Given the description of an element on the screen output the (x, y) to click on. 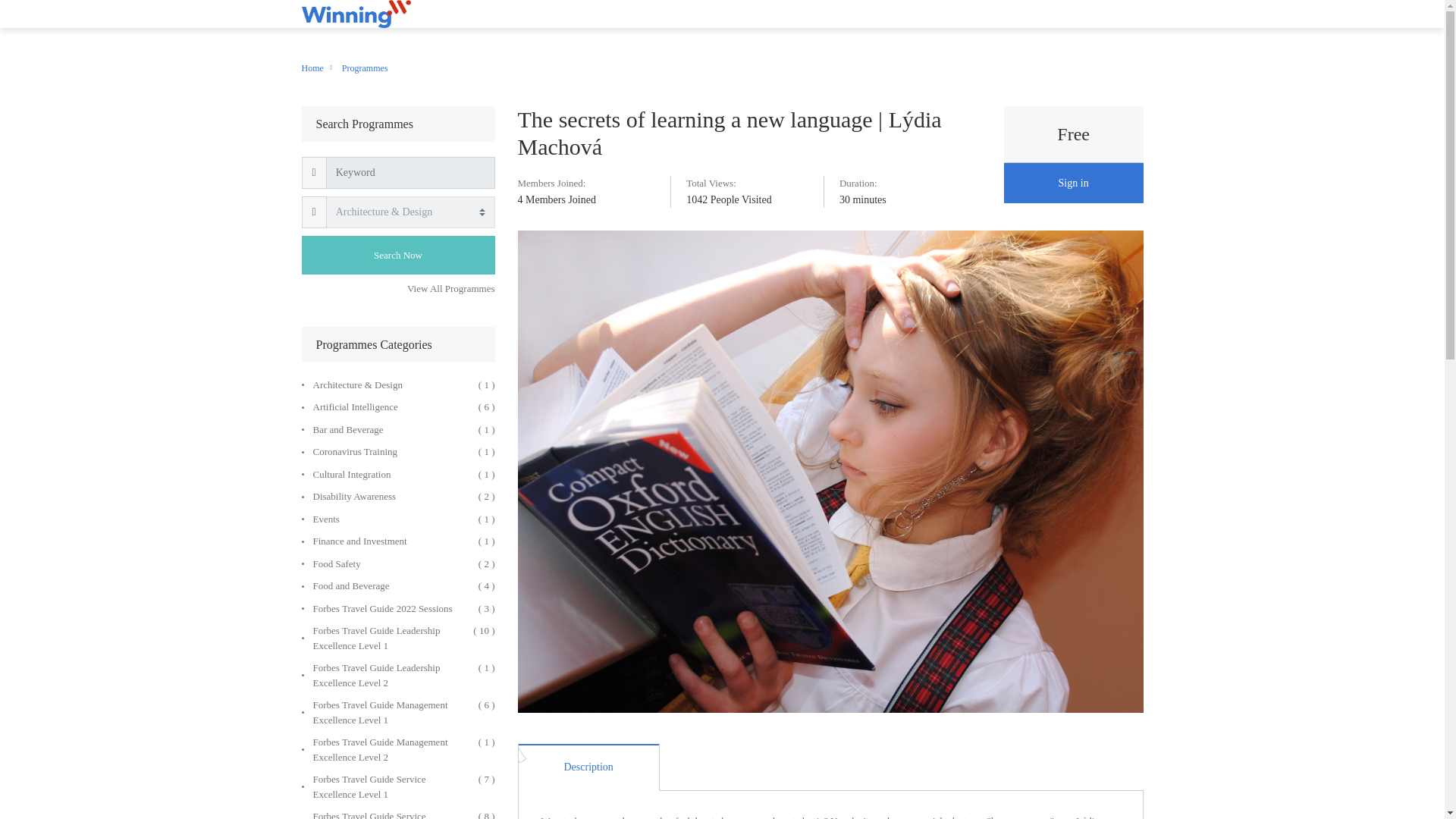
View All Programmes (451, 288)
Search Now (398, 255)
Programmes (365, 68)
Home (312, 68)
Winning (356, 13)
Search (398, 255)
